Given the description of an element on the screen output the (x, y) to click on. 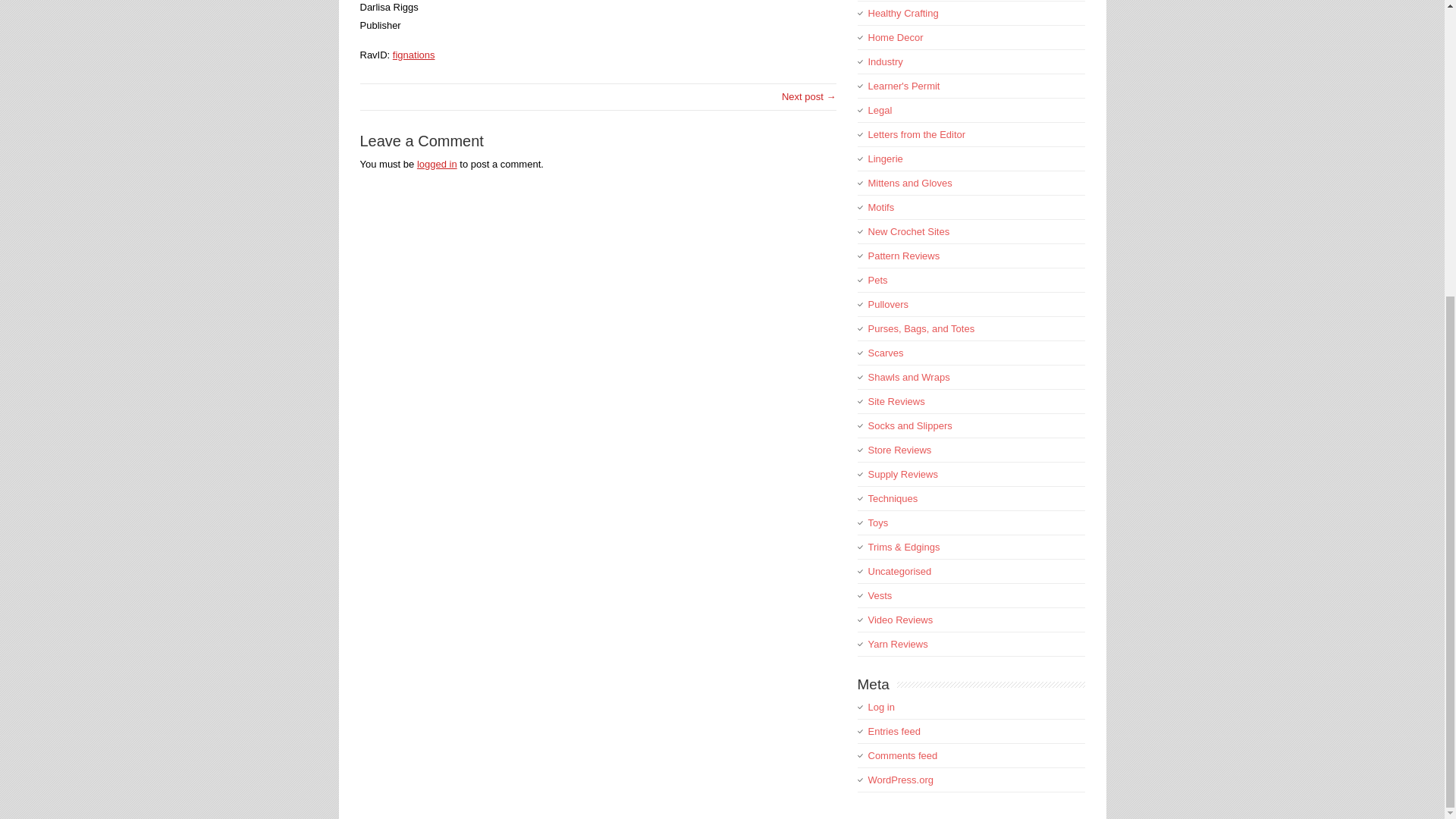
logged in (436, 163)
fignations (414, 54)
